Given the description of an element on the screen output the (x, y) to click on. 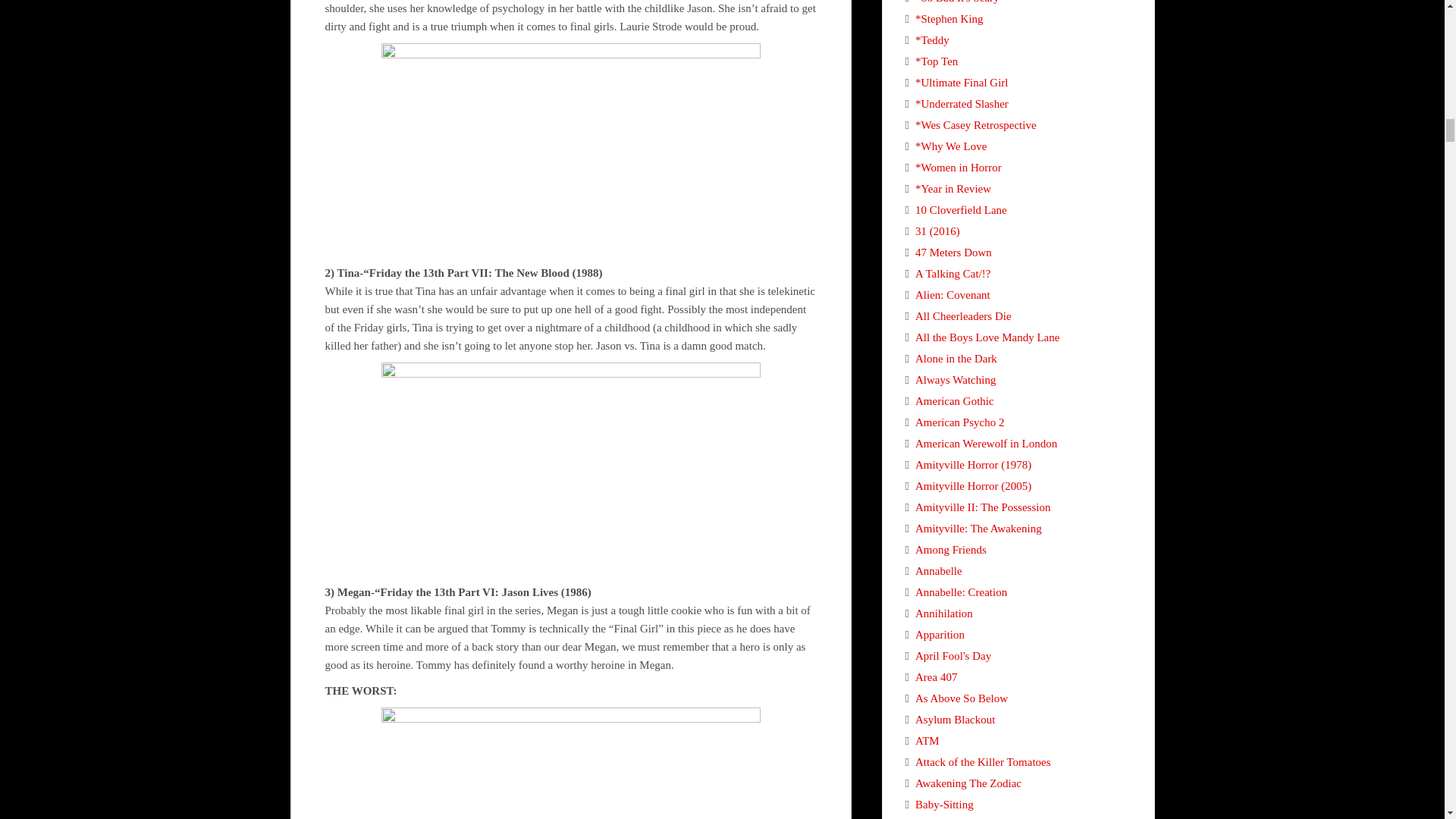
Friday-the-13th-Part-3-Chris-with-axe (570, 763)
megan (570, 468)
fridaythe13thpart7newblood-troubledgirl (570, 149)
